Given the description of an element on the screen output the (x, y) to click on. 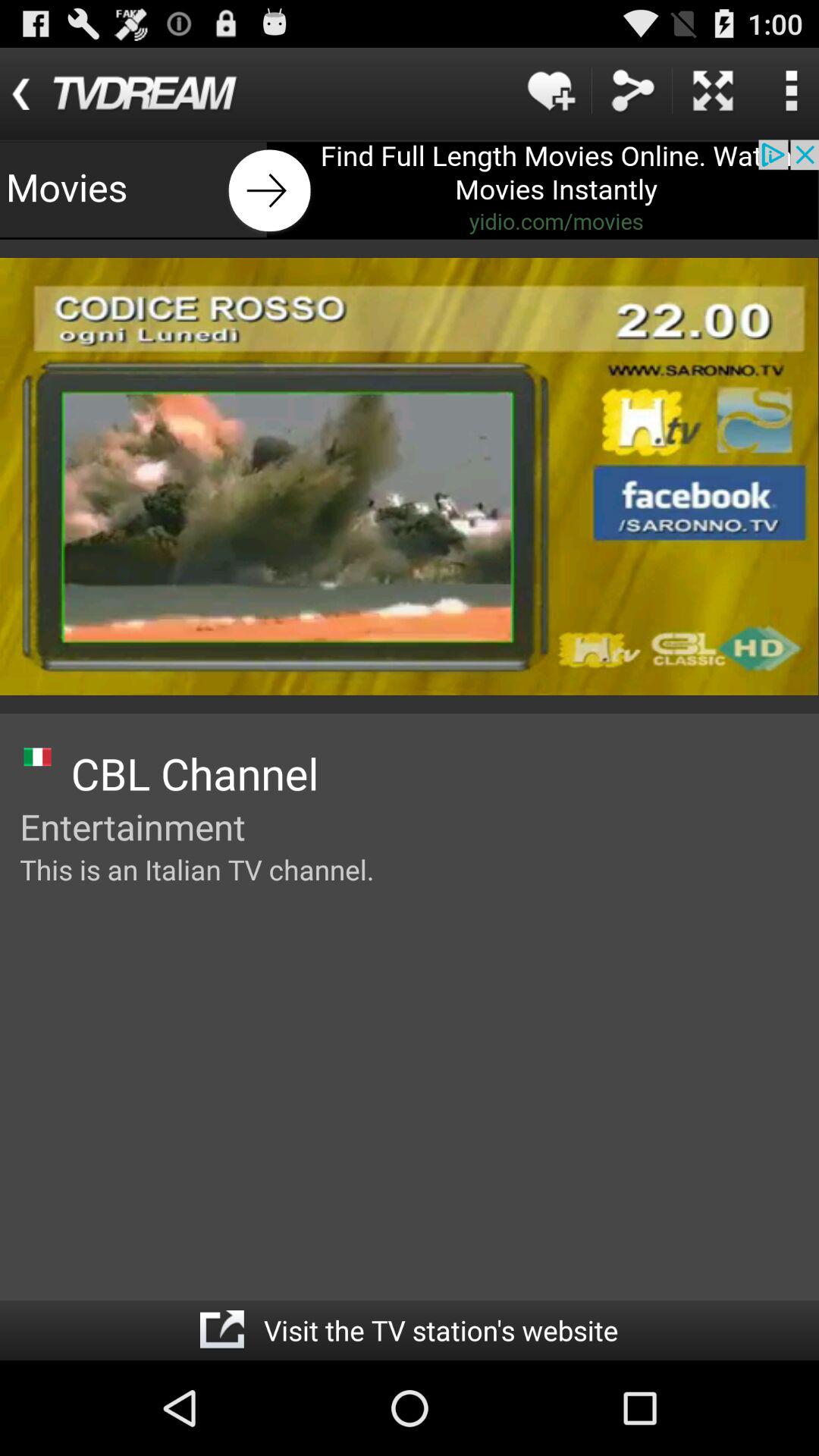
advertisement (409, 189)
